Given the description of an element on the screen output the (x, y) to click on. 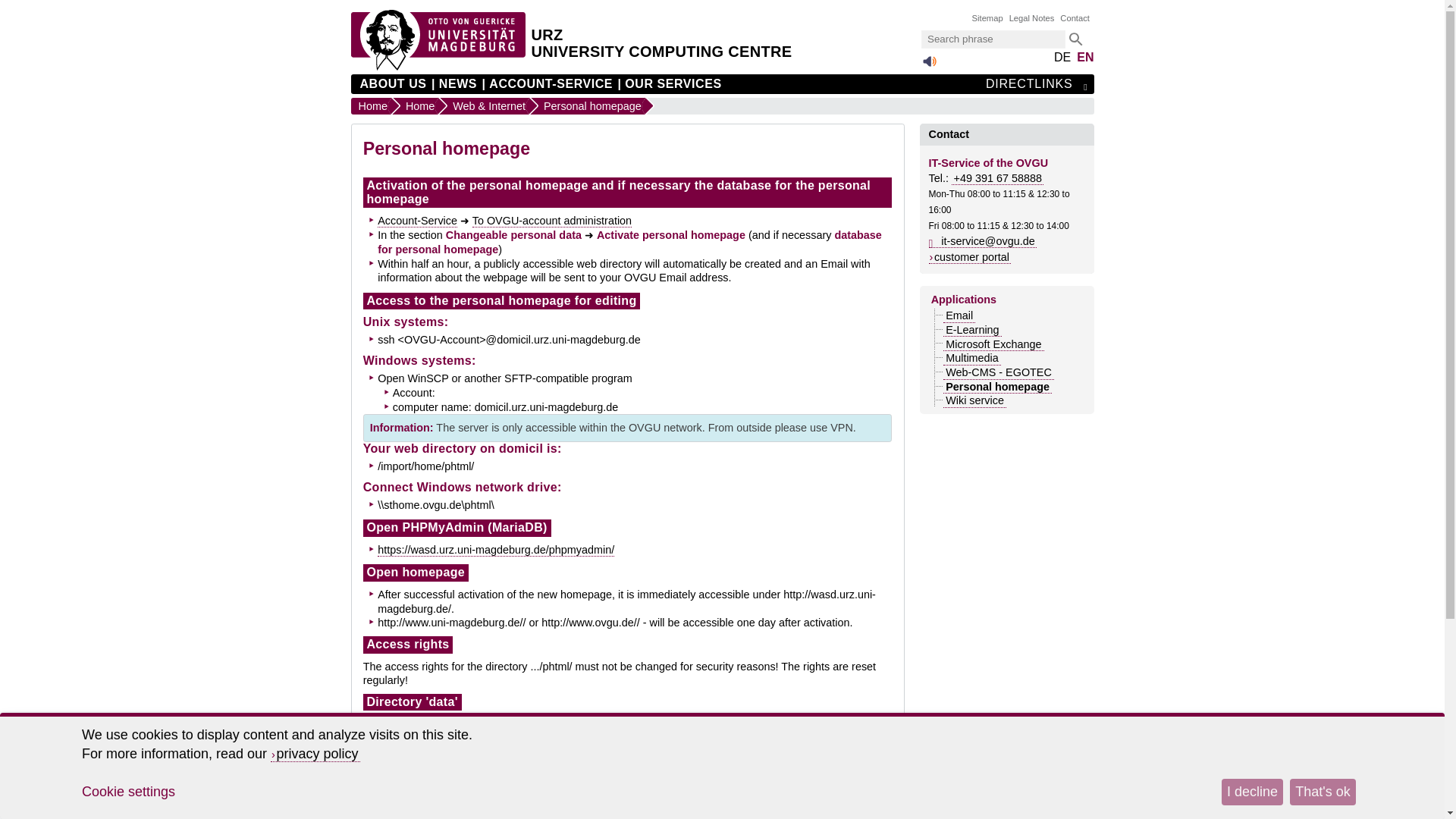
Personal homepage (587, 105)
OUR SERVICES (668, 84)
Home (414, 105)
ACCOUNT-SERVICE (546, 84)
Personal homepage (587, 105)
Home (370, 105)
ABOUT US (392, 84)
Home (414, 105)
Homepage of the Otto-von-Guericke-University Magdeburg (437, 66)
Account-Service (417, 220)
To OVGU-account administration (551, 220)
Contact us (601, 810)
NEWS (453, 84)
